Given the description of an element on the screen output the (x, y) to click on. 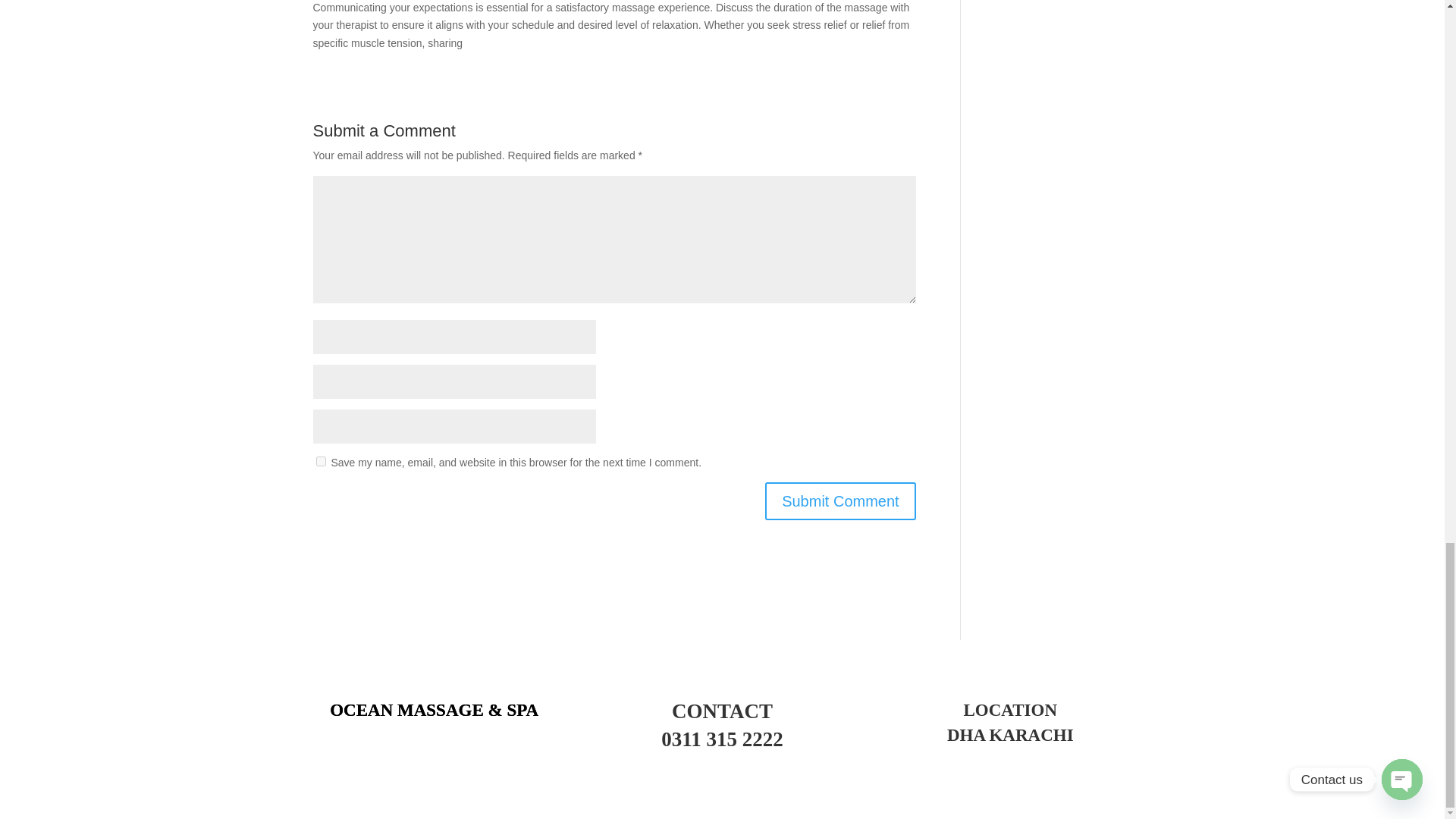
Submit Comment (840, 501)
yes (319, 461)
Submit Comment (840, 501)
